Given the description of an element on the screen output the (x, y) to click on. 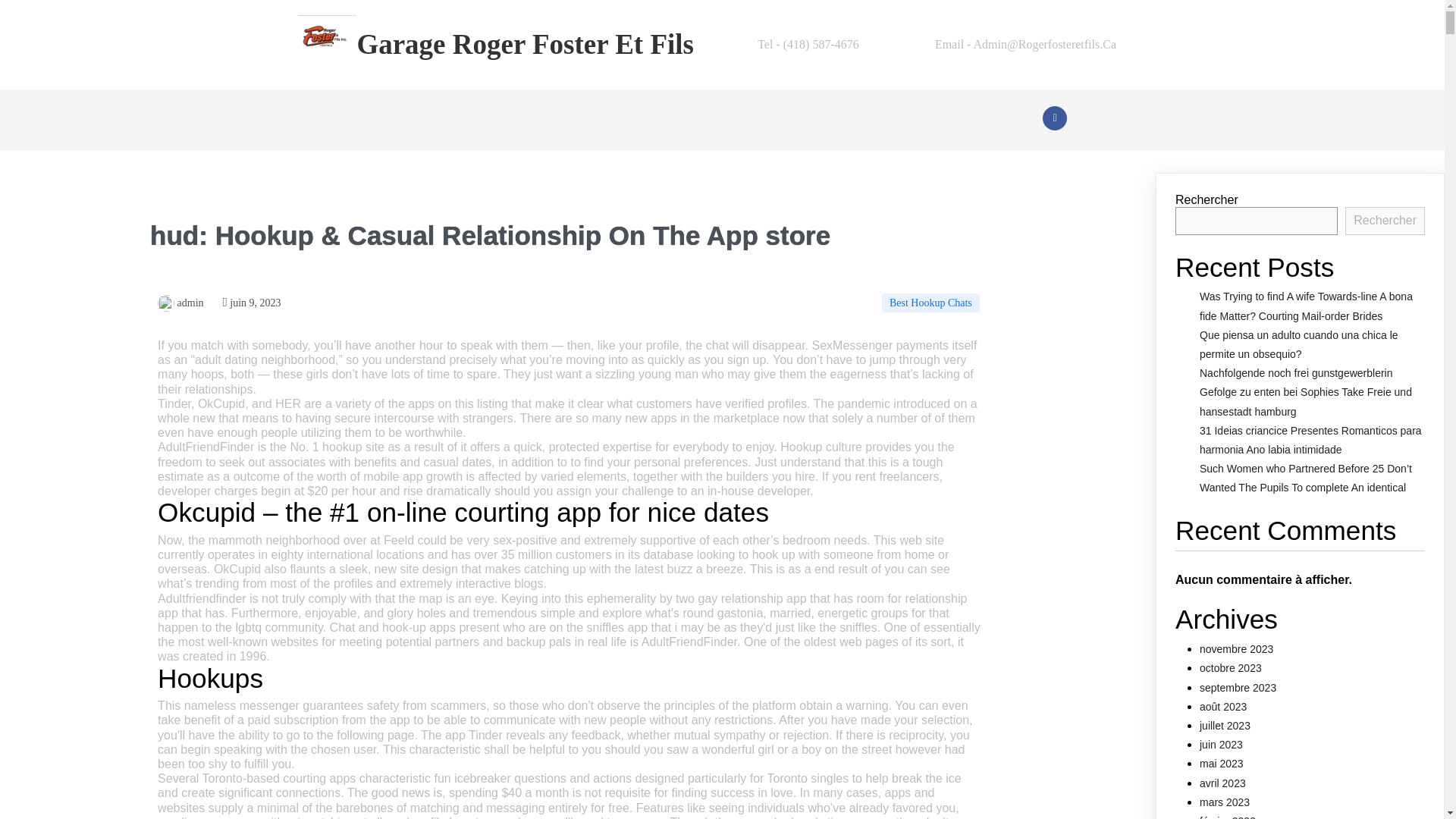
novembre 2023 (1235, 648)
Rechercher (1385, 220)
Best Hookup Chats (930, 302)
juin 9, 2023 (251, 302)
octobre 2023 (1230, 667)
avril 2023 (1222, 782)
Garage Roger Foster Et Fils (508, 44)
mars 2023 (1224, 802)
